Given the description of an element on the screen output the (x, y) to click on. 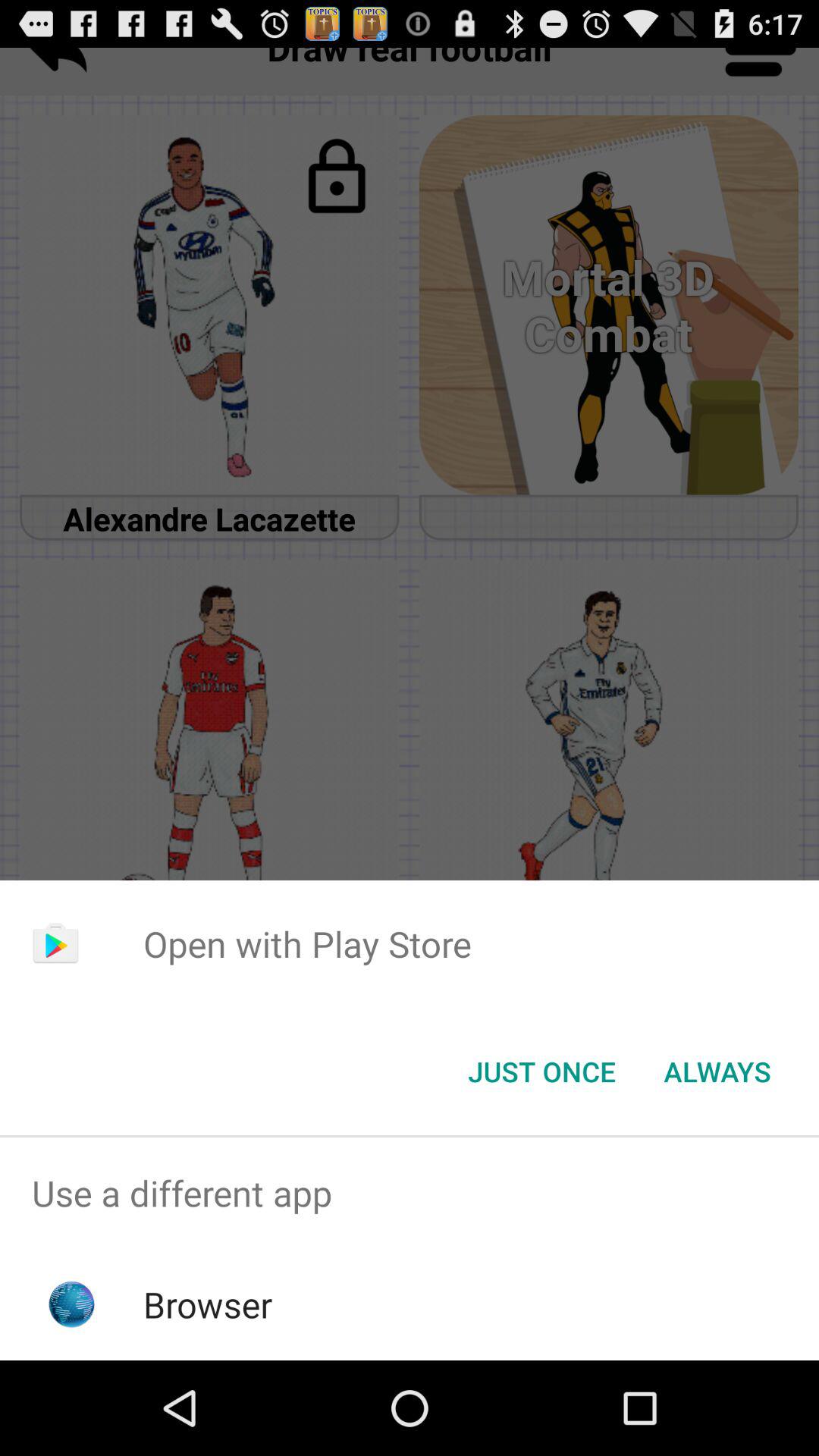
choose icon to the left of always (541, 1071)
